Given the description of an element on the screen output the (x, y) to click on. 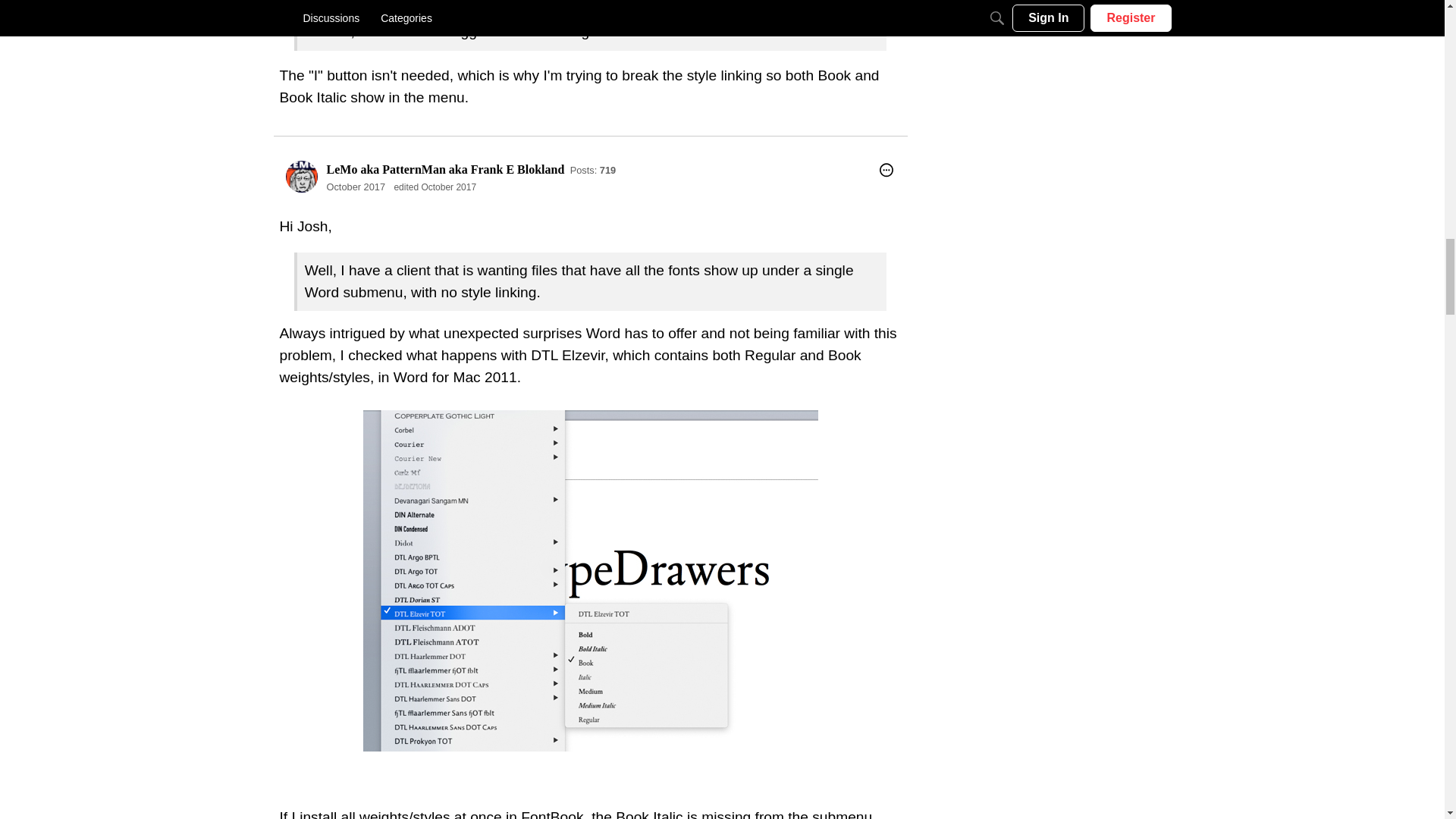
October 2017 (355, 186)
LeMo aka PatternMan aka Frank E Blokland (445, 169)
